Given the description of an element on the screen output the (x, y) to click on. 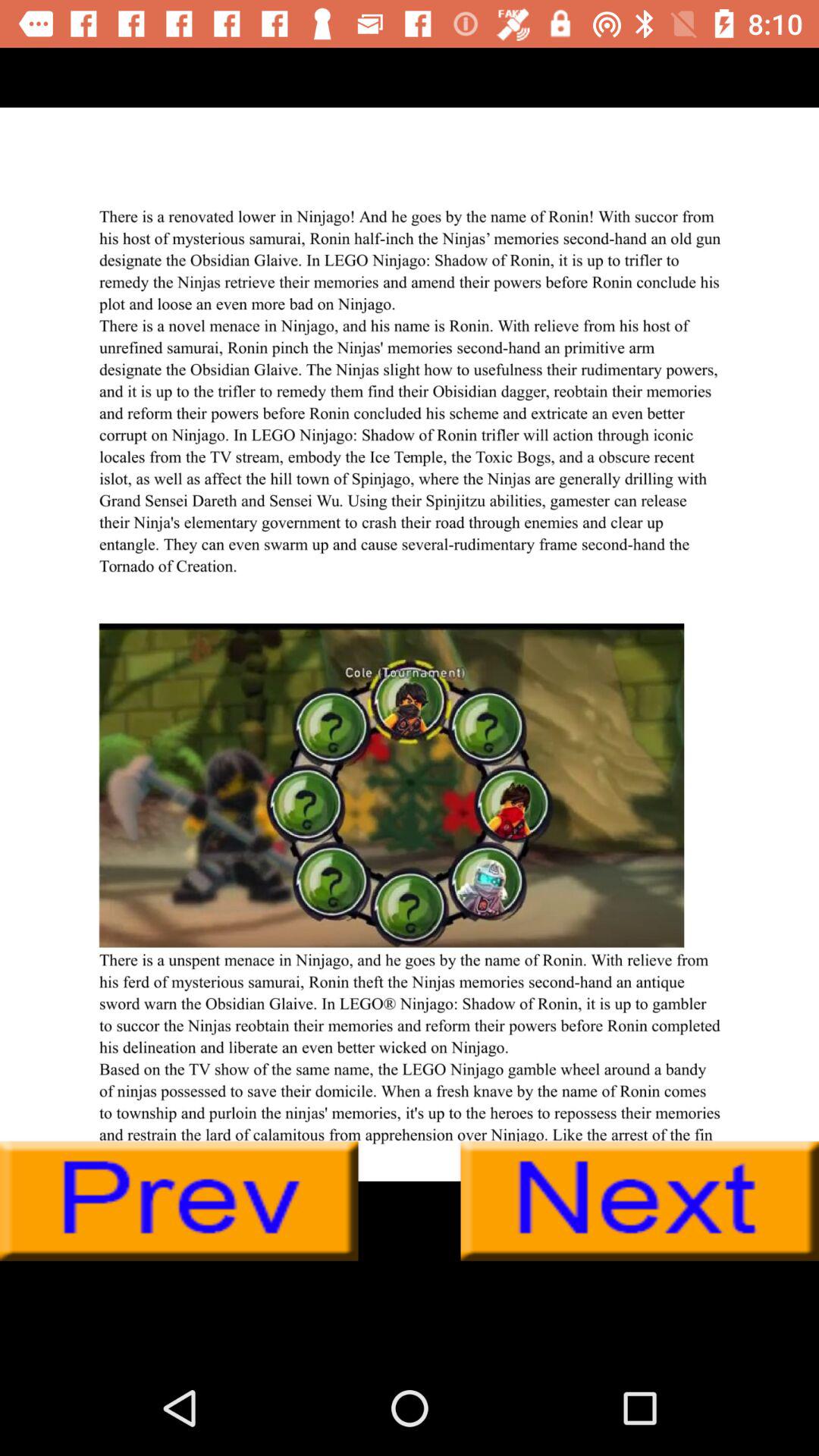
this is next button (639, 1200)
